Given the description of an element on the screen output the (x, y) to click on. 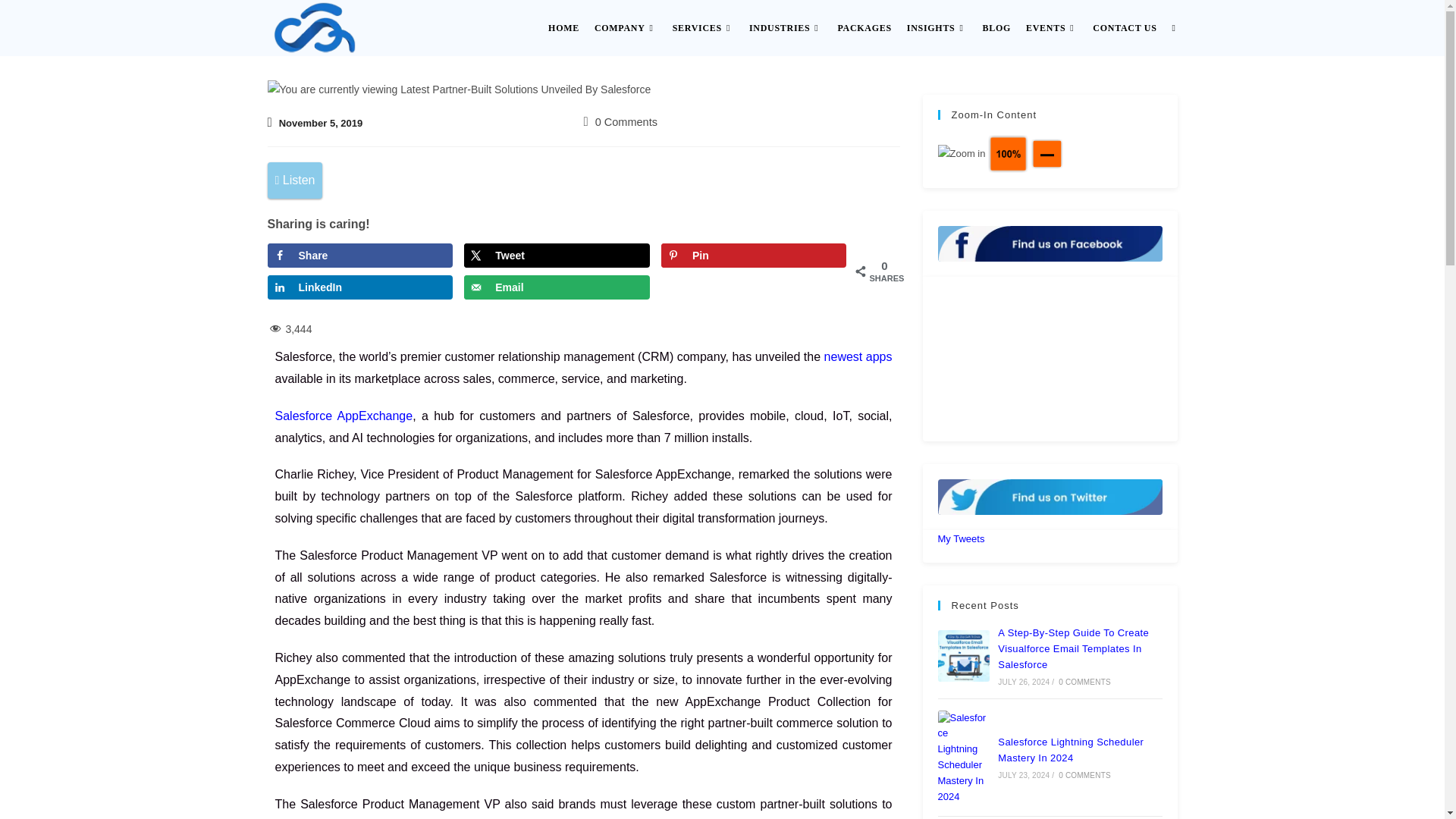
Save to Pinterest (753, 255)
SERVICES (703, 28)
Share on Facebook (358, 255)
COMPANY (625, 28)
Share on X (556, 255)
Share on LinkedIn (358, 287)
Listen the blog (293, 180)
Send over email (556, 287)
